Given the description of an element on the screen output the (x, y) to click on. 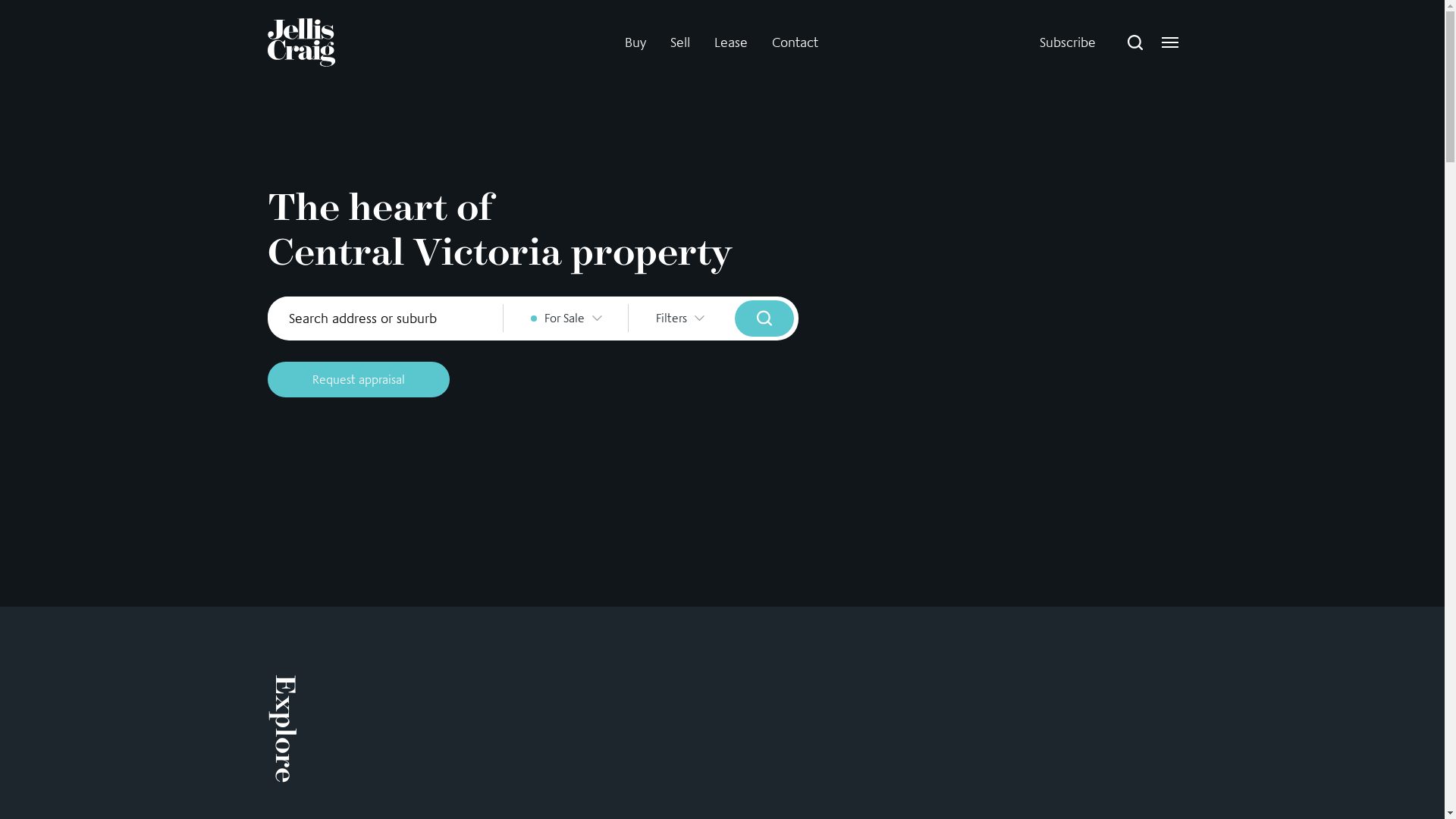
Contact Element type: text (794, 41)
Subscribe Element type: text (1066, 41)
For Sale Element type: text (565, 318)
Sell Element type: text (680, 41)
Request appraisal Element type: text (357, 379)
Lease Element type: text (730, 41)
Buy Element type: text (635, 41)
Filters Element type: text (678, 318)
